Given the description of an element on the screen output the (x, y) to click on. 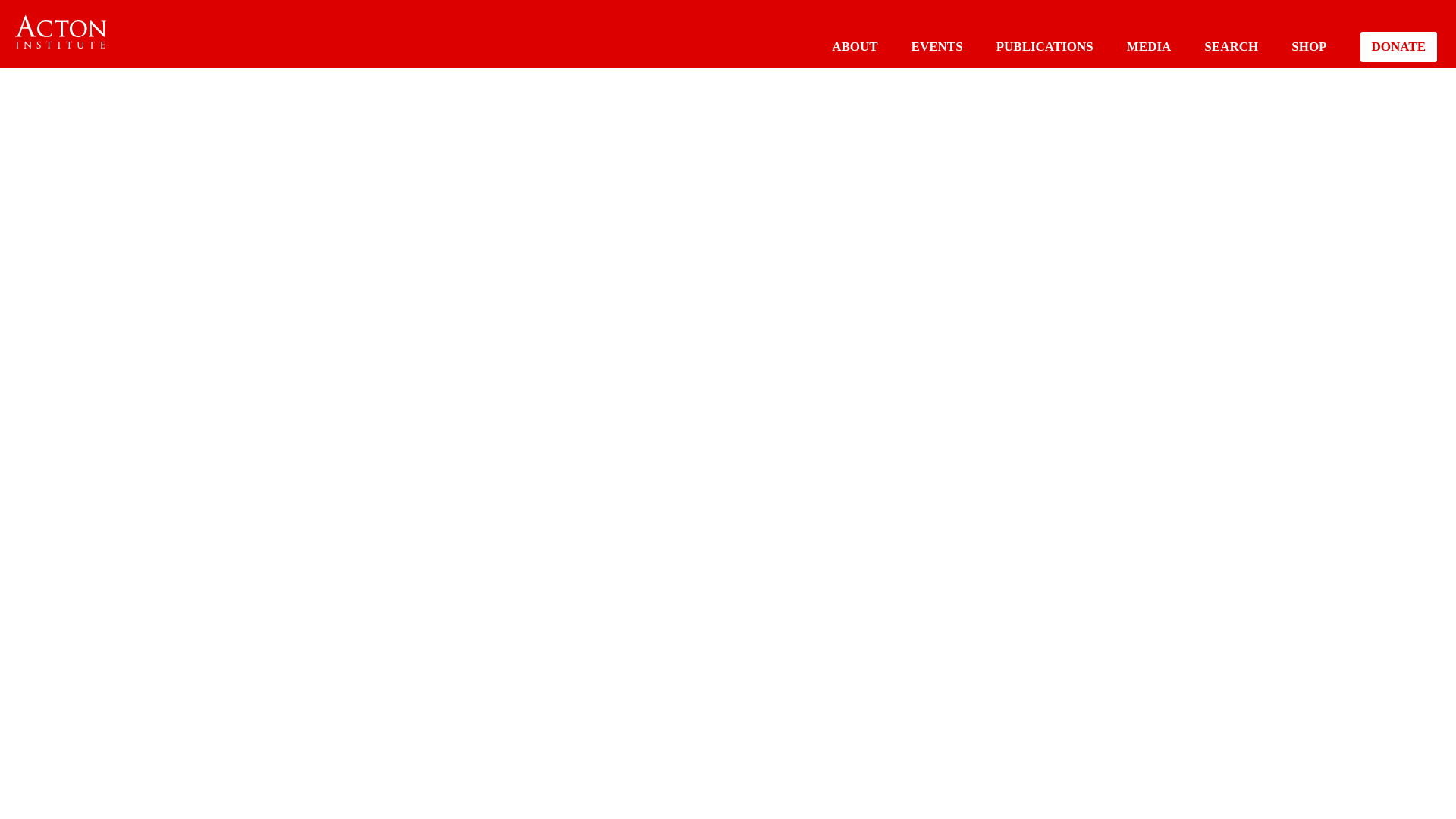
SEARCH (1230, 46)
ABOUT (854, 46)
SHOP (1308, 46)
DONATE (1398, 46)
The Acton Institute (60, 31)
MEDIA (1149, 46)
PUBLICATIONS (1044, 46)
EVENTS (936, 46)
